Given the description of an element on the screen output the (x, y) to click on. 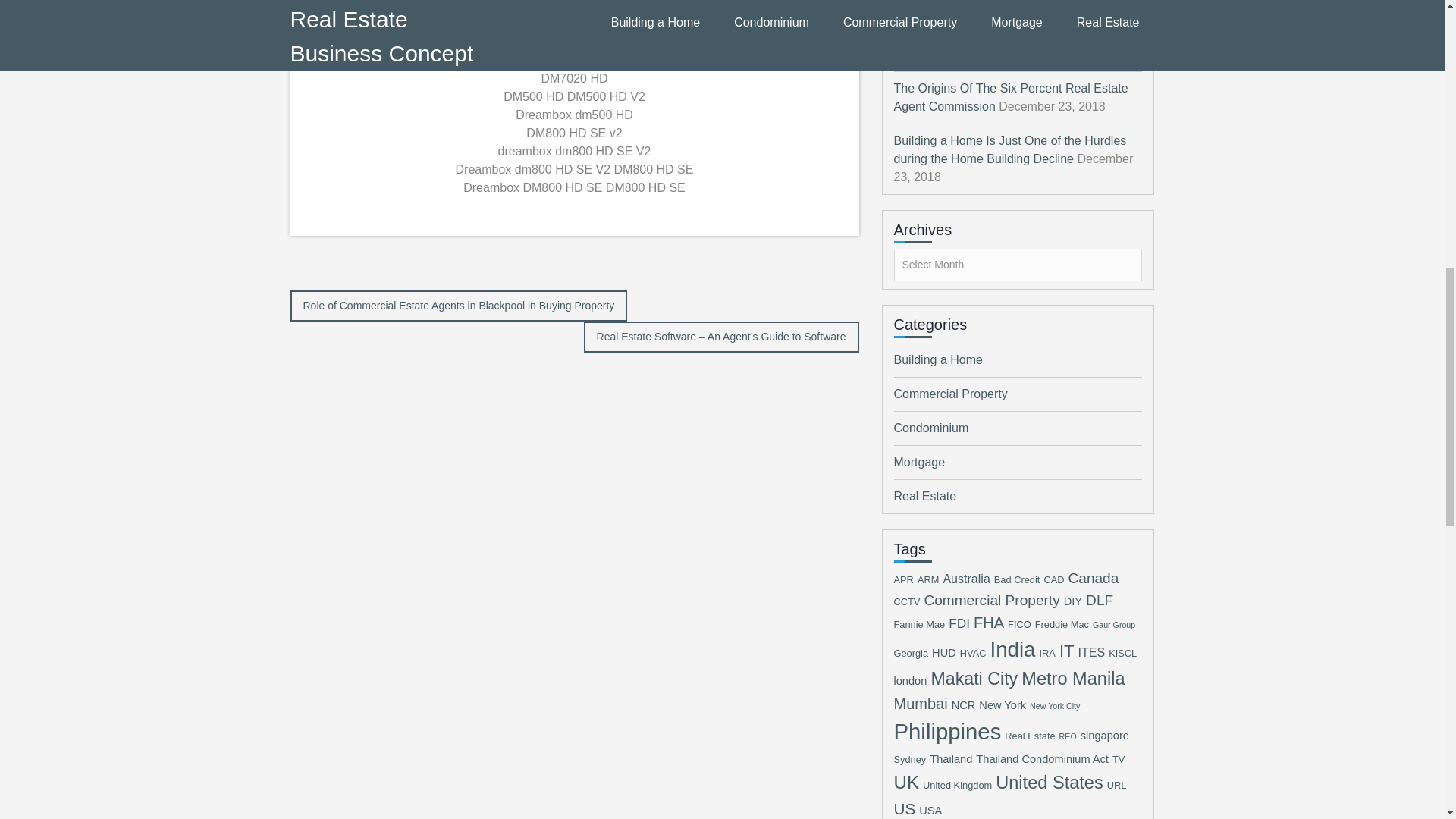
Commercial Property (950, 393)
The Origins Of The Six Percent Real Estate Agent Commission (1009, 97)
Condominium (930, 427)
Real Estate (924, 495)
Bad Credit (1017, 579)
APR (902, 579)
CAD (1053, 579)
Popularity of Condominiums in the Philippine Market (1013, 4)
Australia (966, 578)
ARM (928, 579)
Mortgage (918, 461)
Building a Home (937, 359)
